Given the description of an element on the screen output the (x, y) to click on. 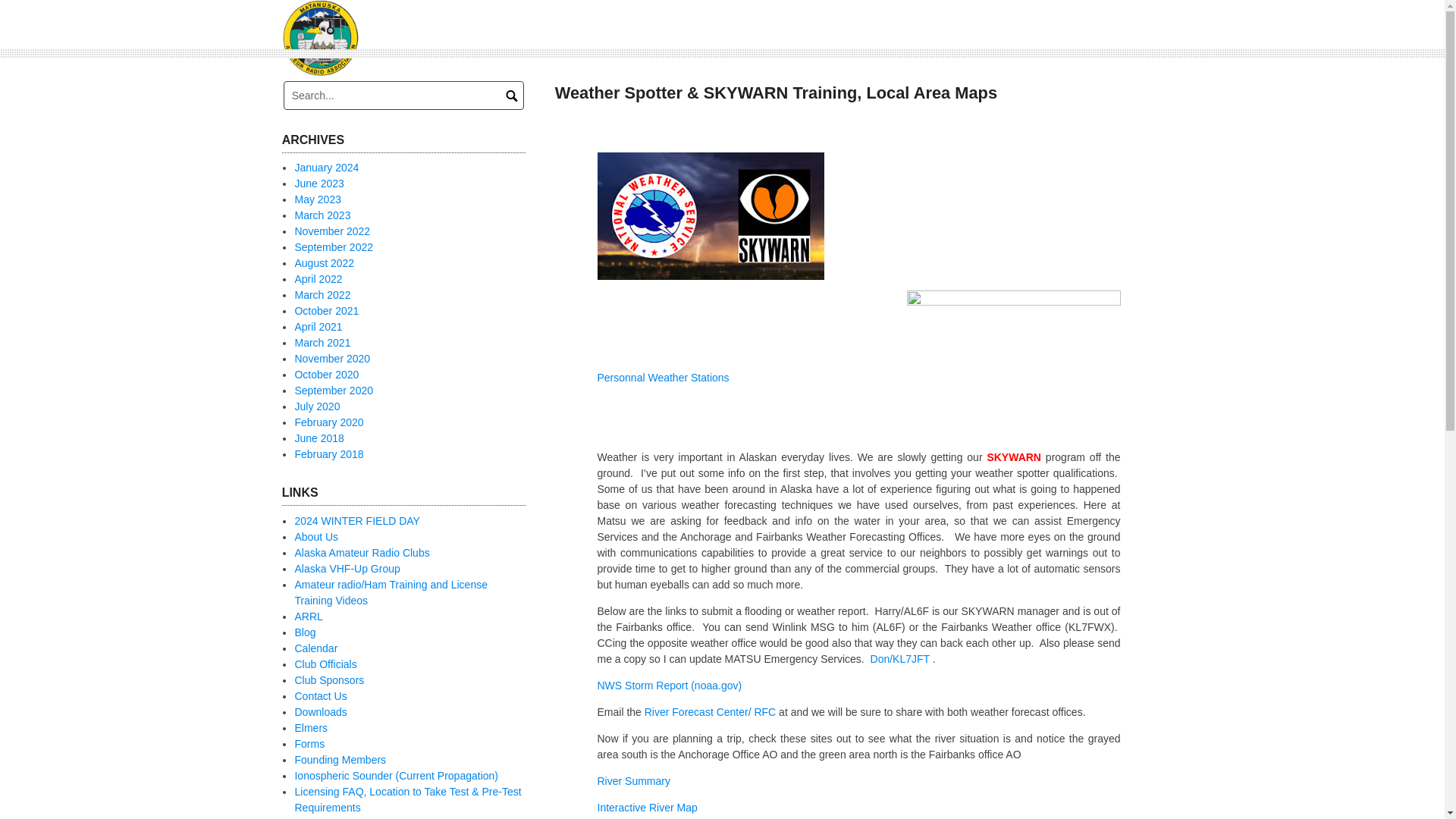
Downloads (320, 711)
Personnal Weather Stations (662, 377)
January 2024 (326, 167)
August 2022 (323, 263)
River Summary (632, 780)
Search for: (403, 95)
May 2023 (317, 199)
November 2022 (331, 231)
Pages of Intrest (361, 552)
Links to practice exams to get your HAM License (390, 592)
